Given the description of an element on the screen output the (x, y) to click on. 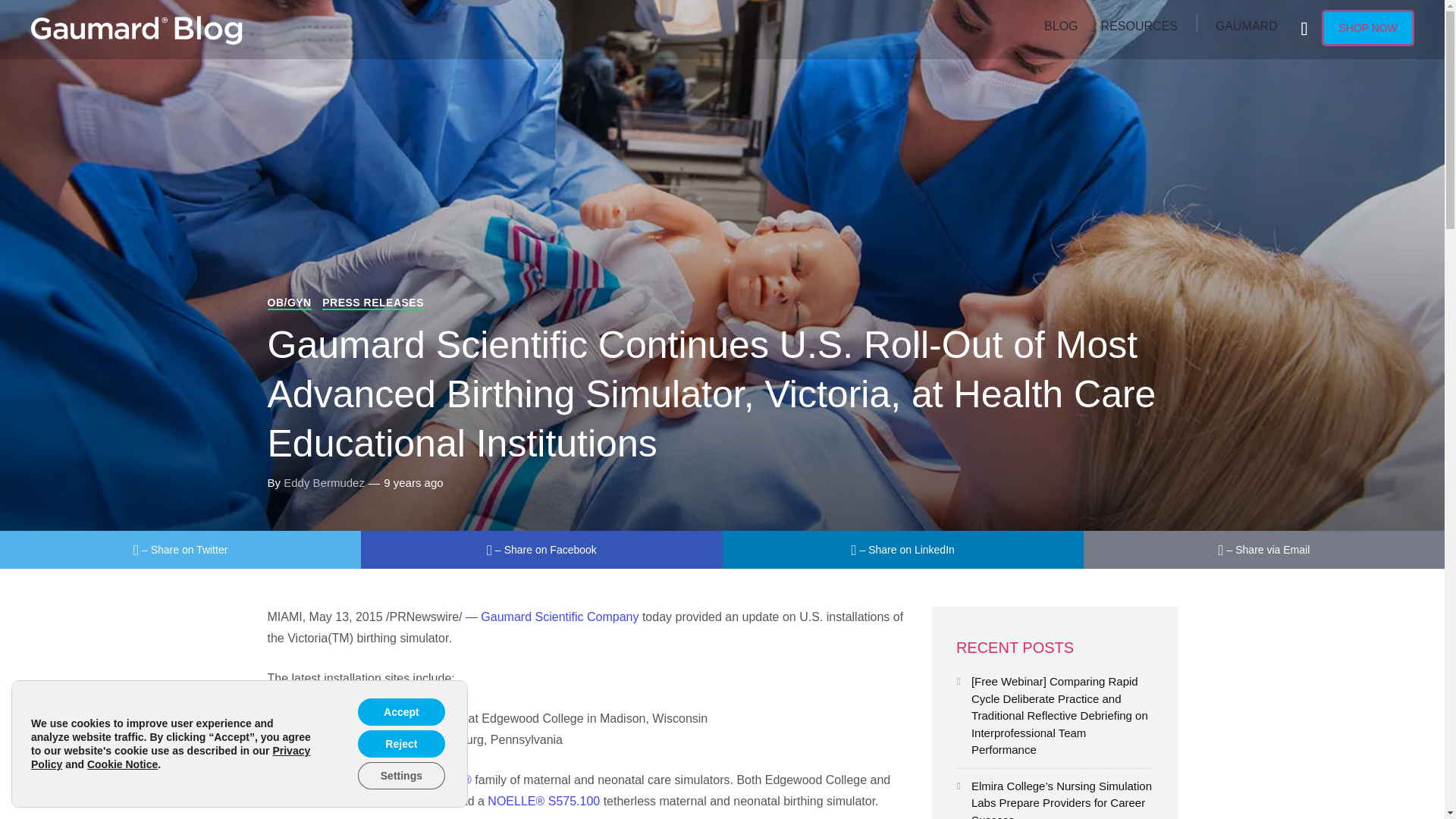
GAUMARD (1246, 26)
Eddy Bermudez (324, 481)
PRESS RELEASES (372, 303)
Gaumard Scientific Company (559, 616)
SHOP NOW (1367, 27)
Twitter (180, 549)
Submit (30, 21)
BLOG (1060, 26)
Share on Facebook (541, 549)
Gaumard Blog (136, 27)
